Given the description of an element on the screen output the (x, y) to click on. 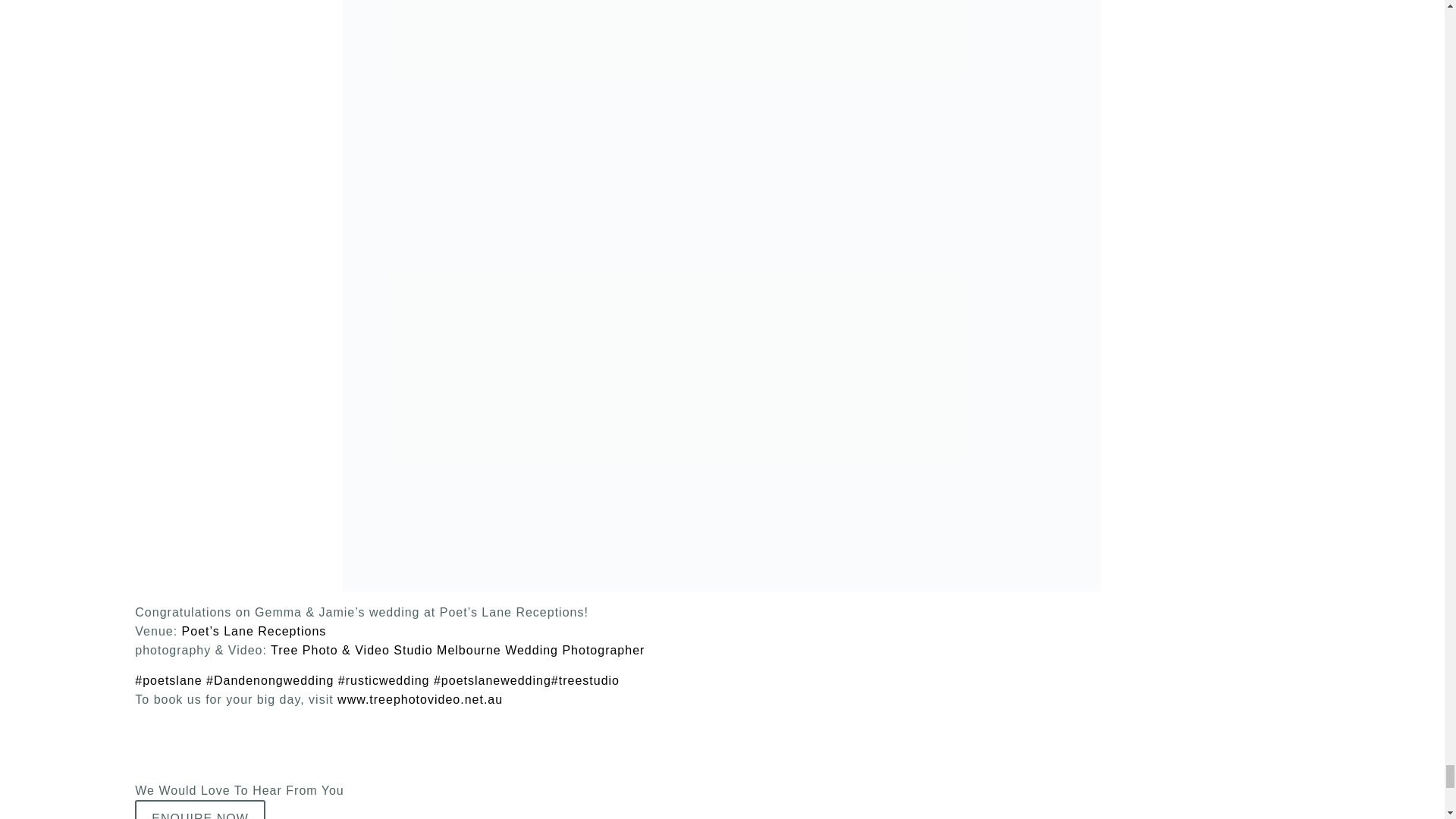
ENQUIRE NOW  (199, 809)
www.treephotovideo.net.au (419, 698)
ENQUIRE NOW (199, 809)
